Given the description of an element on the screen output the (x, y) to click on. 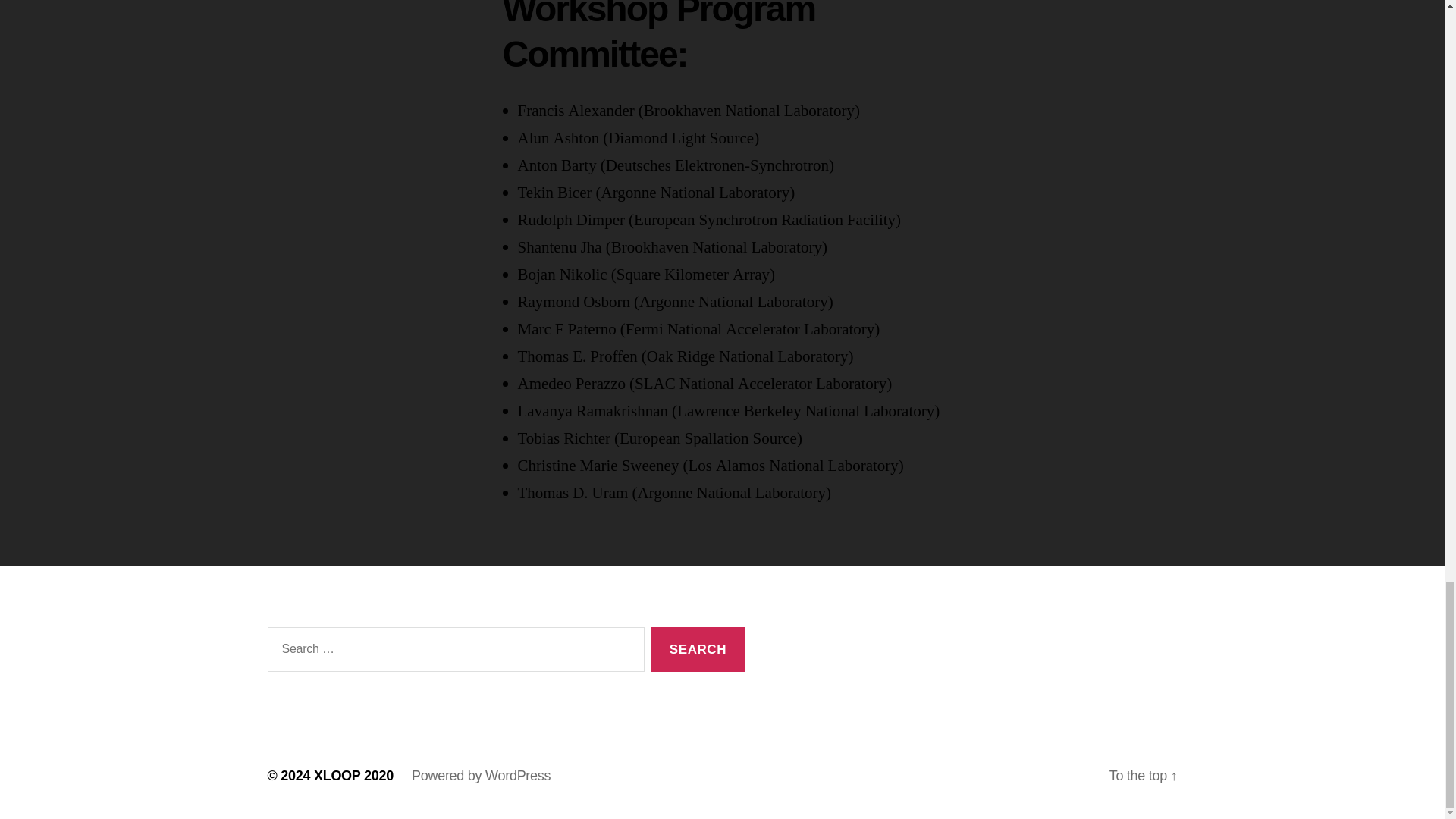
Search (697, 649)
Powered by WordPress (481, 775)
Search (697, 649)
XLOOP 2020 (353, 775)
Search (697, 649)
